Given the description of an element on the screen output the (x, y) to click on. 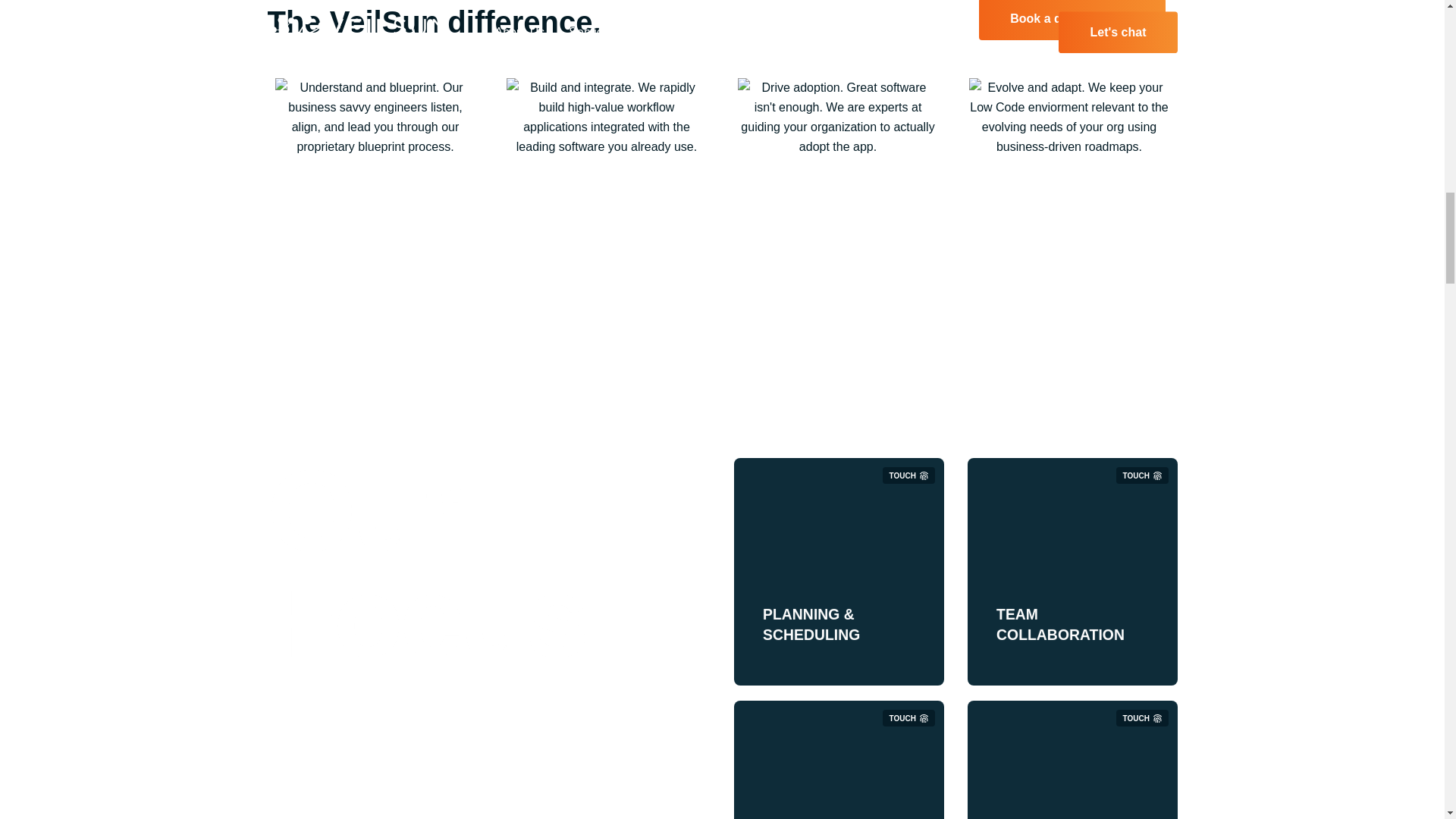
Button Book a discovery call (1072, 20)
